Given the description of an element on the screen output the (x, y) to click on. 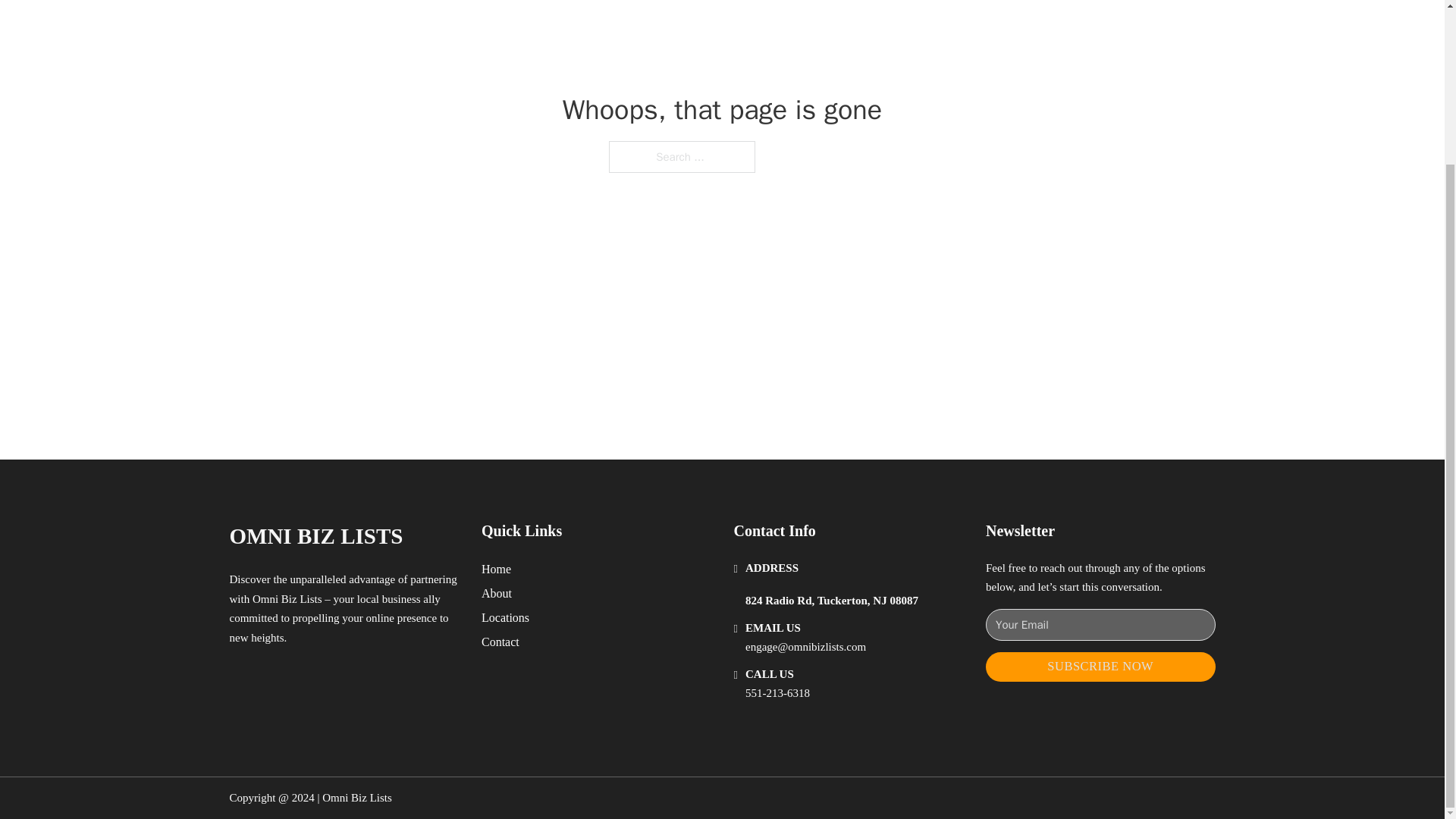
OMNI BIZ LISTS (315, 536)
About (496, 593)
Home (496, 568)
Locations (505, 617)
Contact (500, 641)
SUBSCRIBE NOW (1100, 666)
551-213-6318 (777, 693)
